Given the description of an element on the screen output the (x, y) to click on. 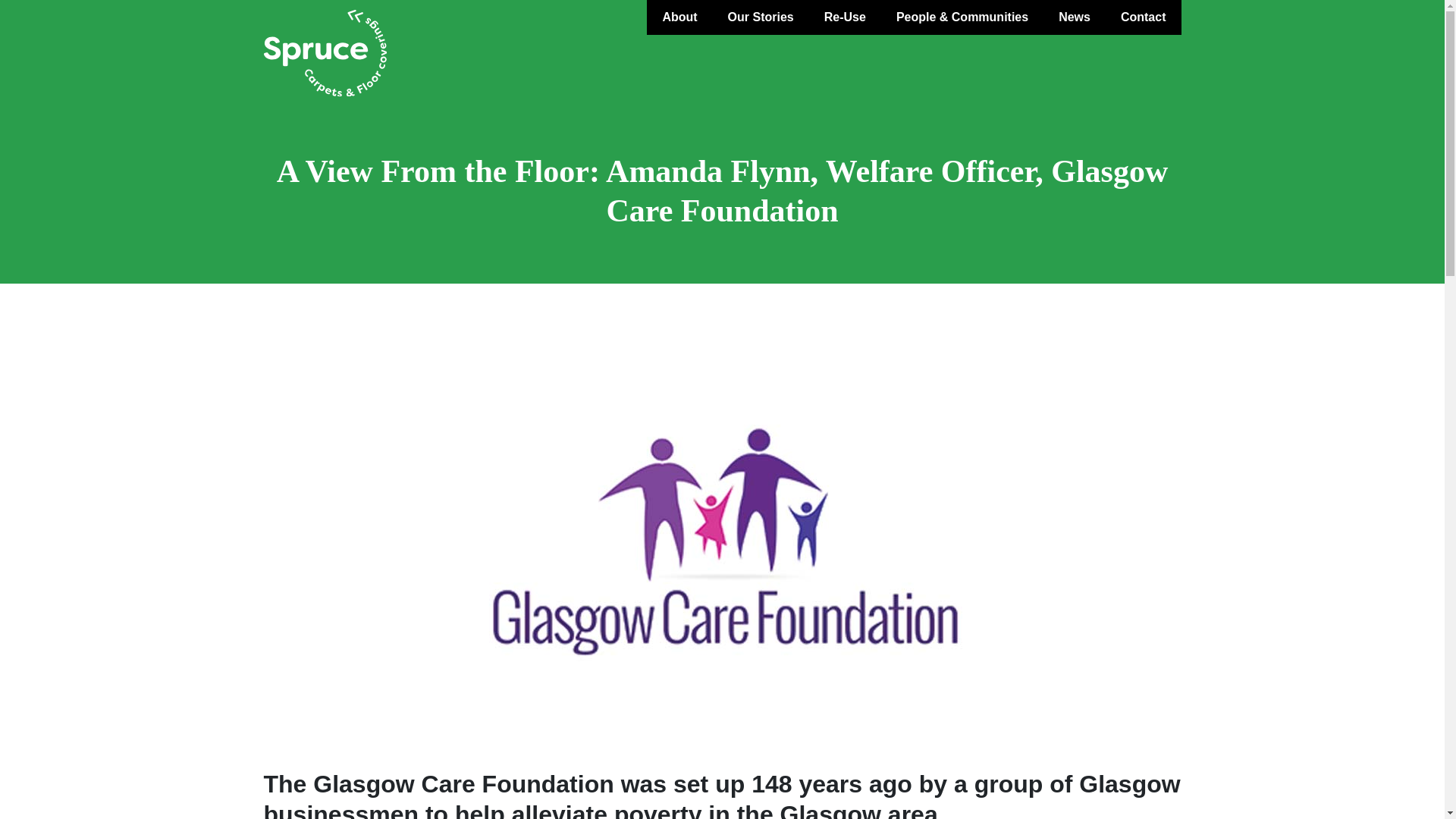
News (1074, 17)
About (678, 17)
Re-Use (844, 17)
Contact (1142, 17)
News (1074, 17)
Contact (1142, 17)
Spruce Carpets (325, 52)
Our Stories (761, 17)
About (678, 17)
Re-Use (844, 17)
Our Stories (761, 17)
